Given the description of an element on the screen output the (x, y) to click on. 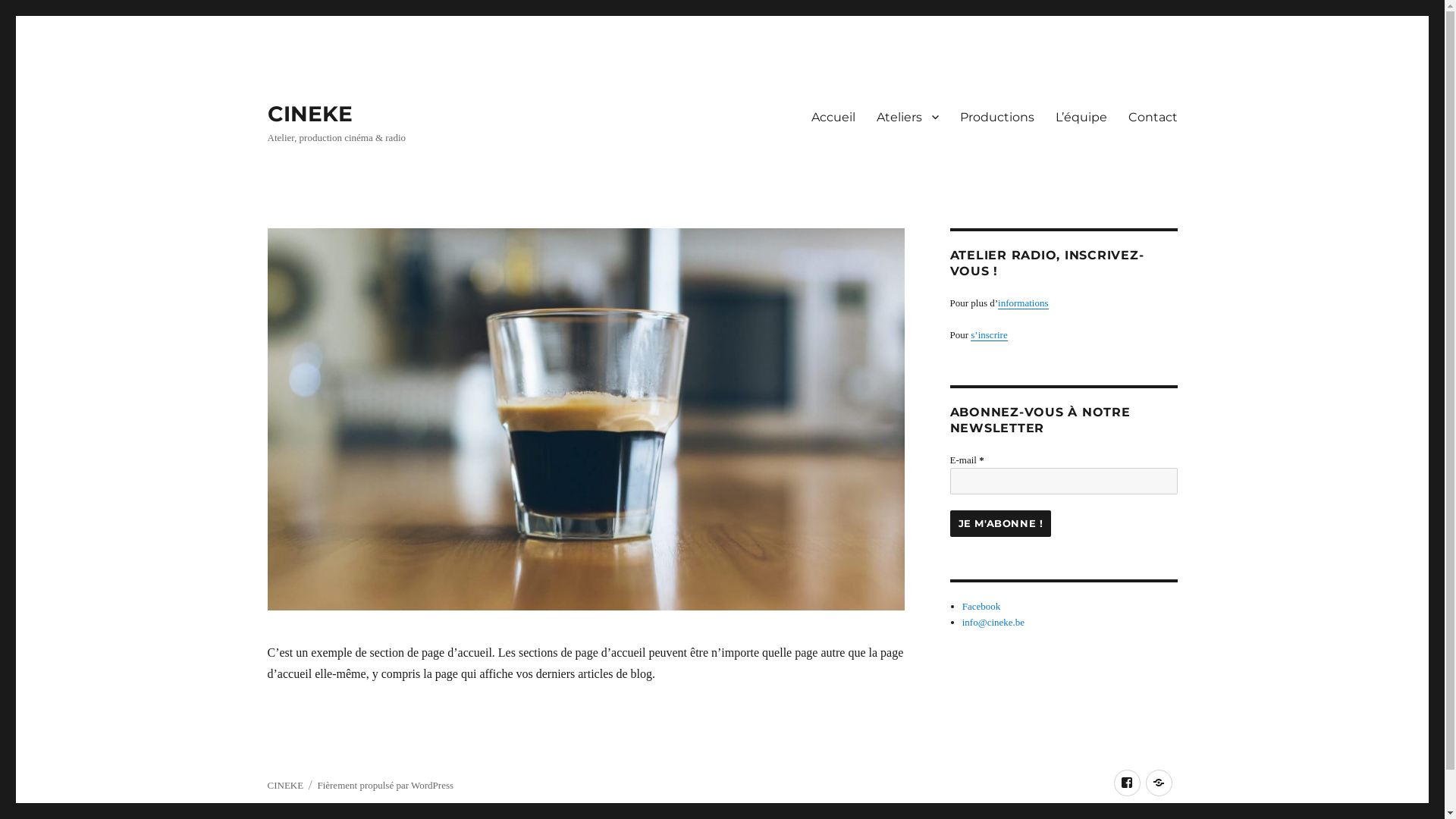
info@cineke.be Element type: text (993, 621)
Contact Element type: text (1152, 116)
Je m'abonne ! Element type: text (1000, 523)
CINEKE Element type: text (308, 113)
Facebook Element type: text (981, 605)
info@cineke.be Element type: text (1158, 782)
E-mail Element type: hover (1062, 480)
Accueil Element type: text (833, 116)
Productions Element type: text (996, 116)
CINEKE Element type: text (284, 784)
Ateliers Element type: text (907, 116)
Facebook Element type: text (1126, 782)
informations Element type: text (1022, 302)
